Given the description of an element on the screen output the (x, y) to click on. 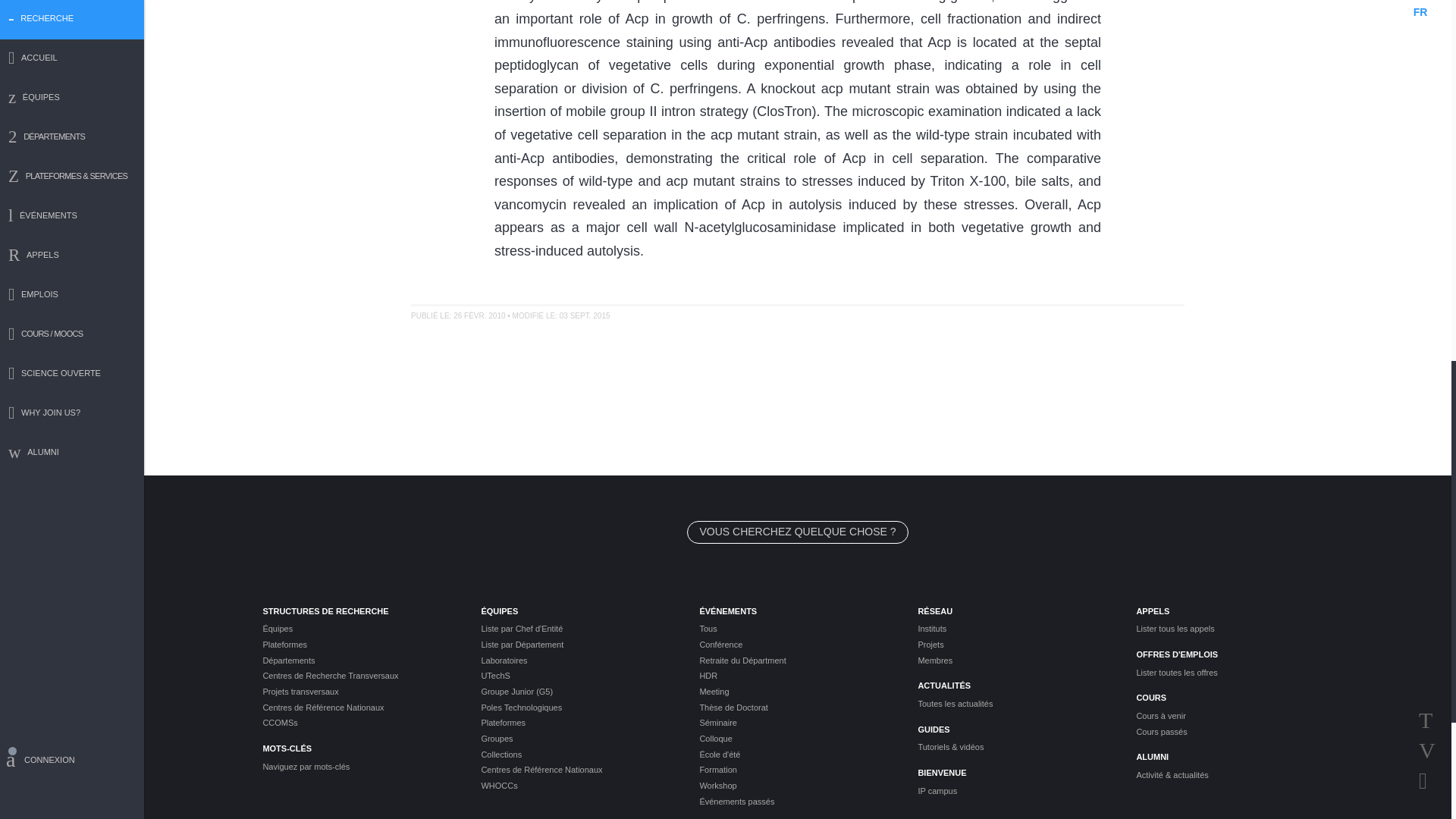
Plateformes (360, 644)
